Given the description of an element on the screen output the (x, y) to click on. 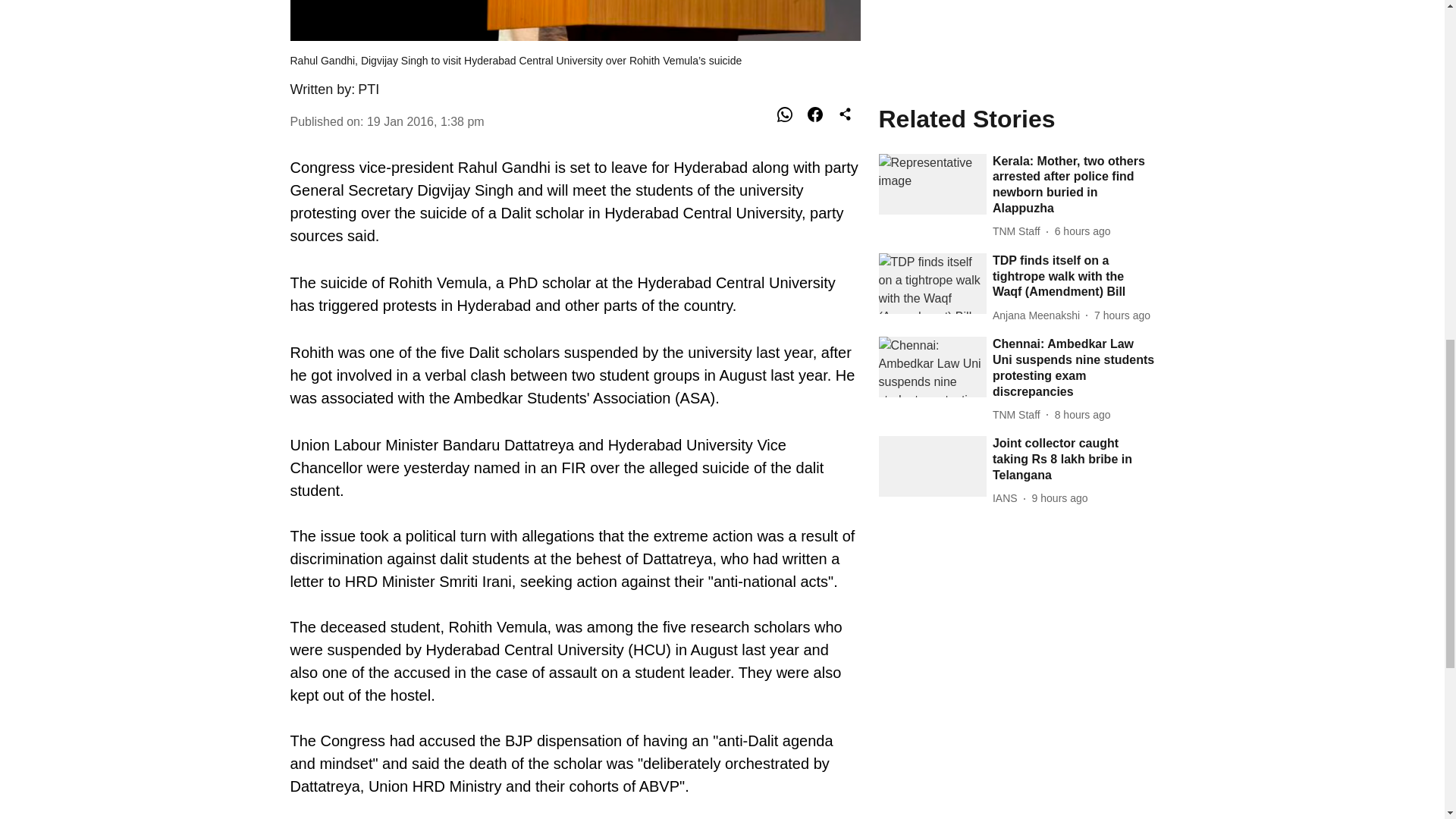
2016-01-19 05:38 (425, 121)
2024-08-13 11:51 (1082, 40)
PTI (368, 89)
2024-08-13 10:57 (1059, 123)
